Given the description of an element on the screen output the (x, y) to click on. 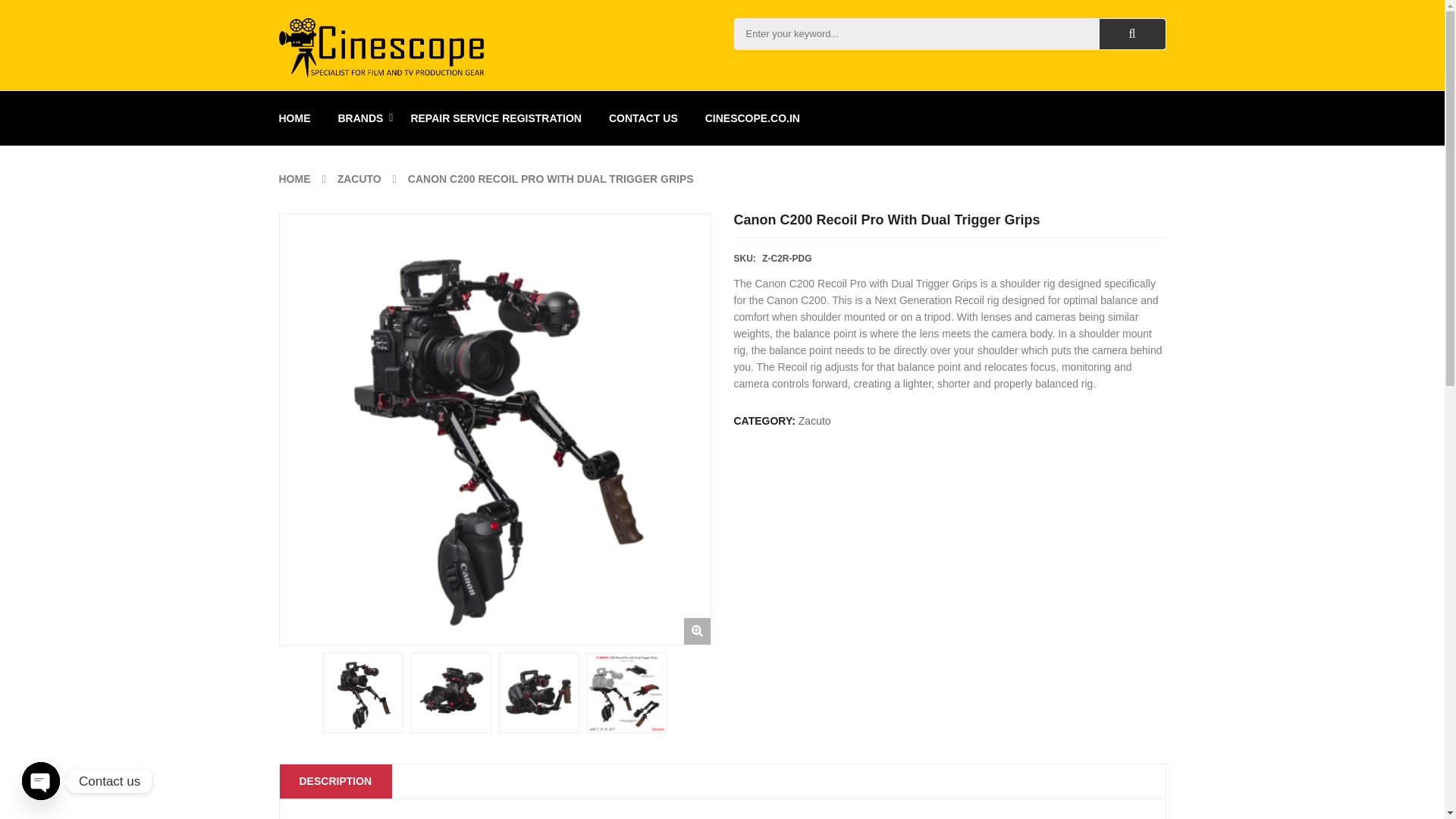
DESCRIPTION (335, 781)
Zacuto (814, 420)
HOME (295, 178)
ZACUTO (359, 178)
BRANDS (360, 117)
Search (1132, 33)
CINESCOPE.CO.IN (752, 117)
CONTACT US (643, 117)
REPAIR SERVICE REGISTRATION (495, 117)
